Given the description of an element on the screen output the (x, y) to click on. 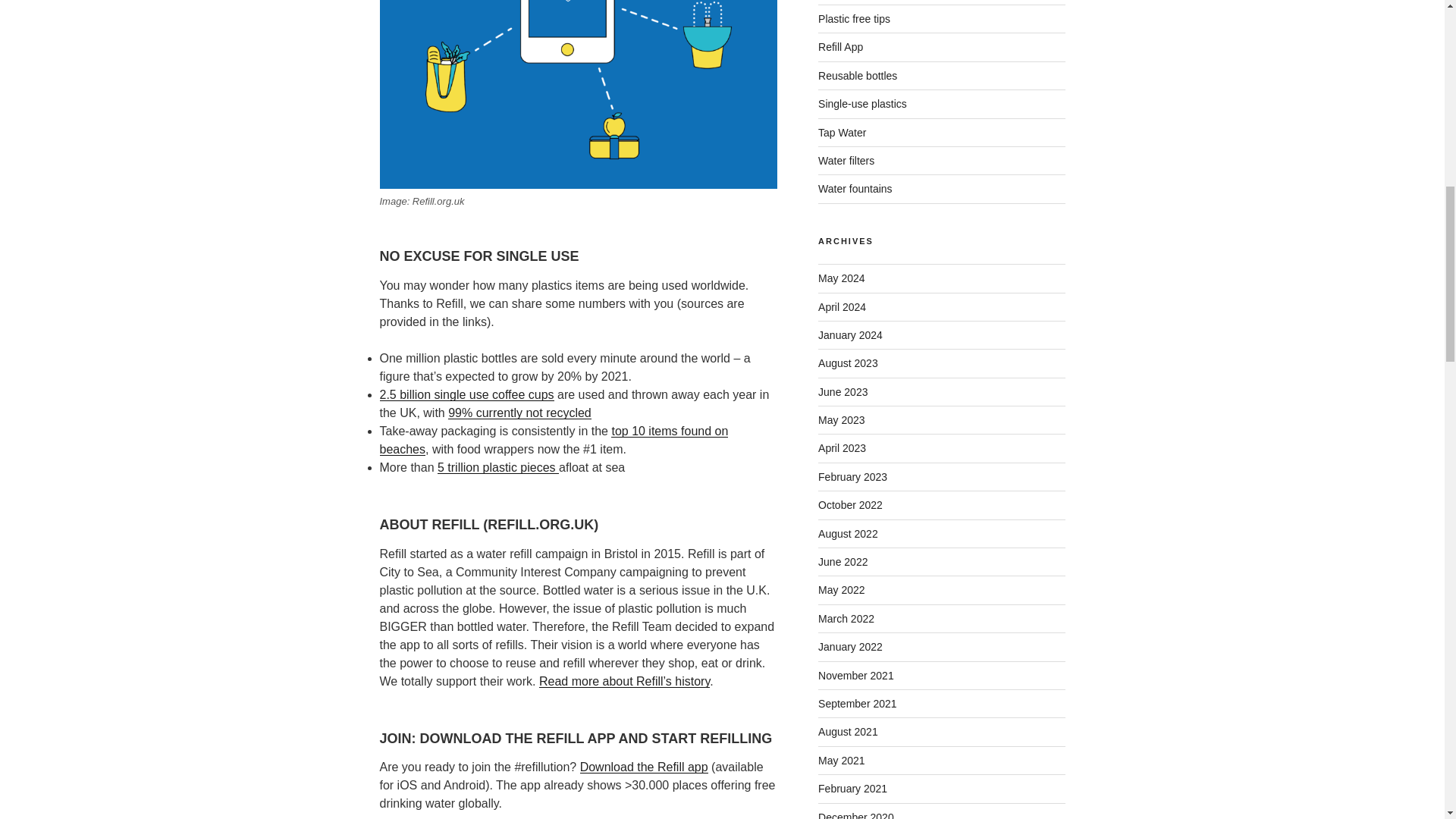
Download the Refill app (643, 766)
2.5 billion single use coffee cups (465, 394)
top 10 items found on beaches (553, 440)
5 trillion plastic pieces (498, 467)
